Given the description of an element on the screen output the (x, y) to click on. 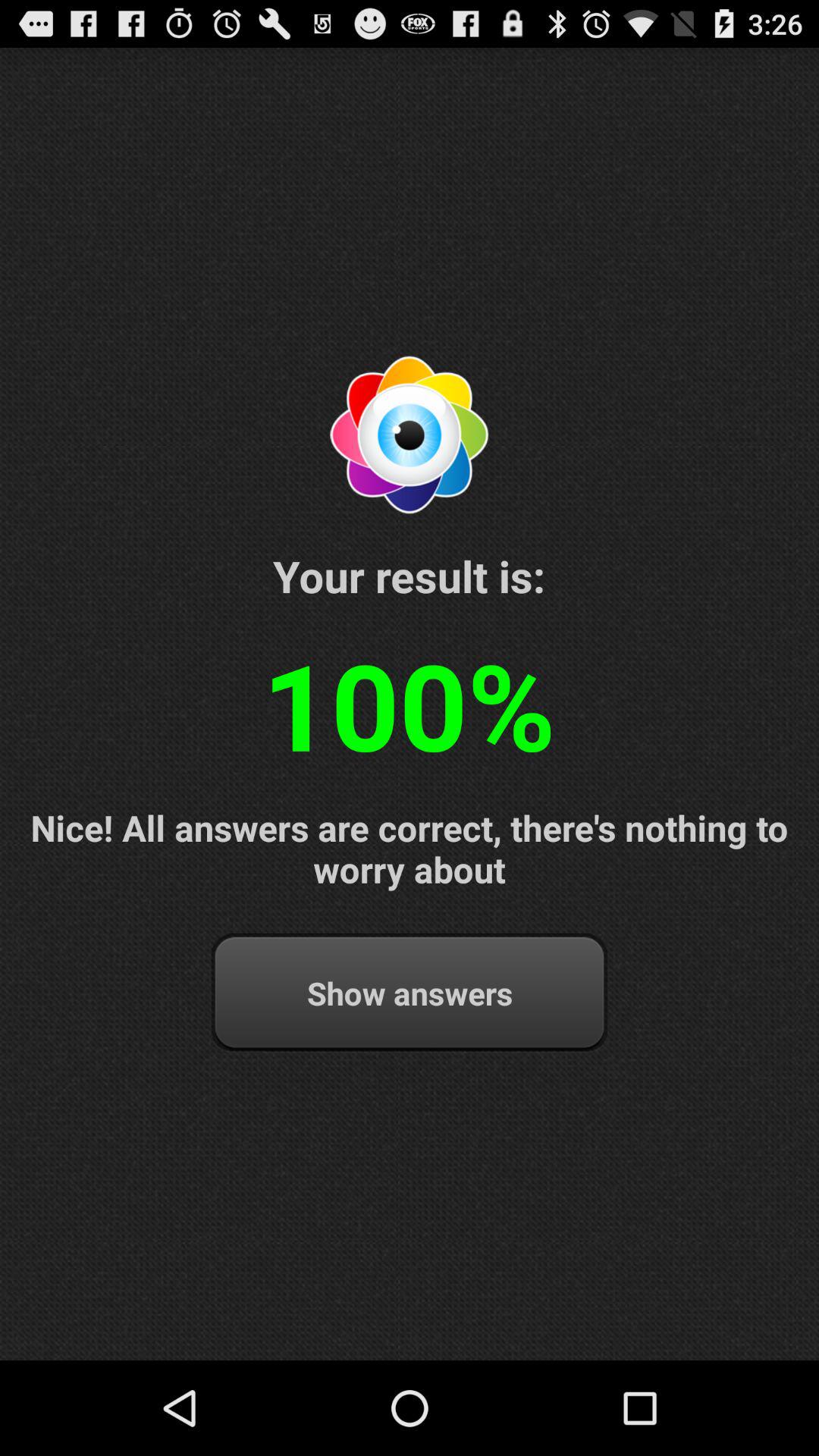
turn on item below the nice all answers icon (409, 992)
